Given the description of an element on the screen output the (x, y) to click on. 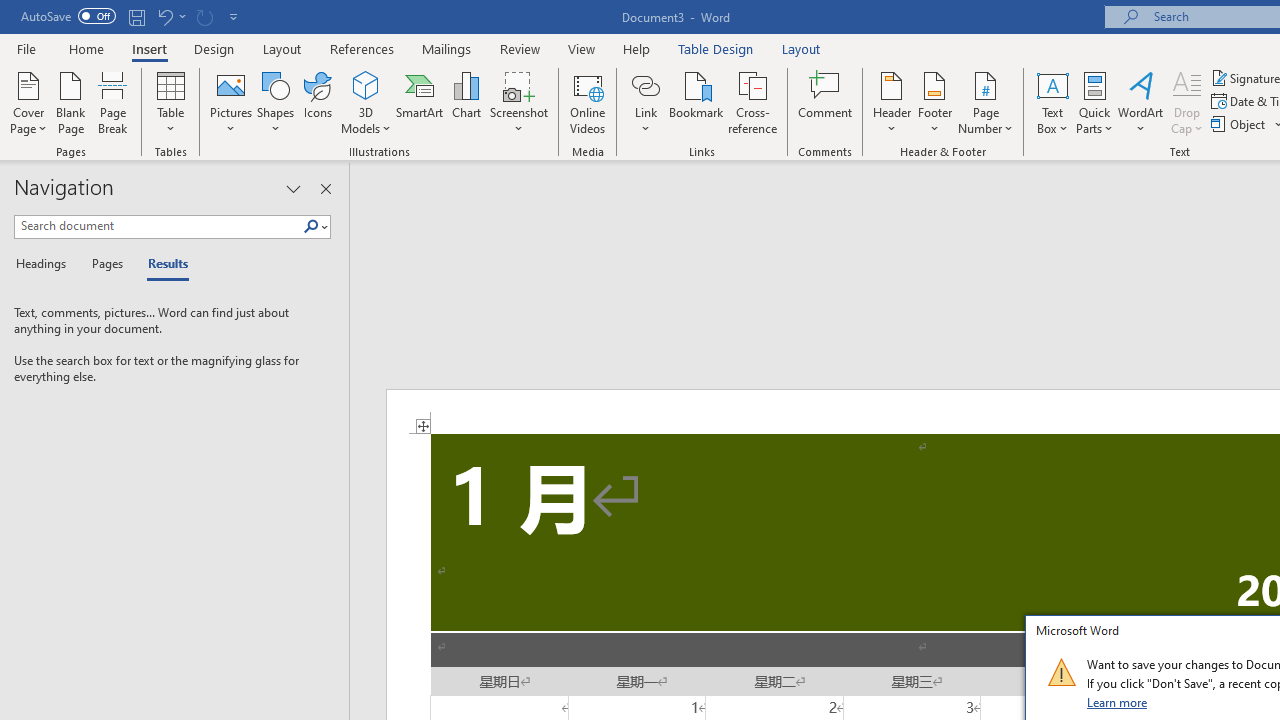
Chart... (466, 102)
Comment (825, 102)
Blank Page (70, 102)
3D Models (366, 102)
Object... (1240, 124)
Quick Parts (1094, 102)
